Given the description of an element on the screen output the (x, y) to click on. 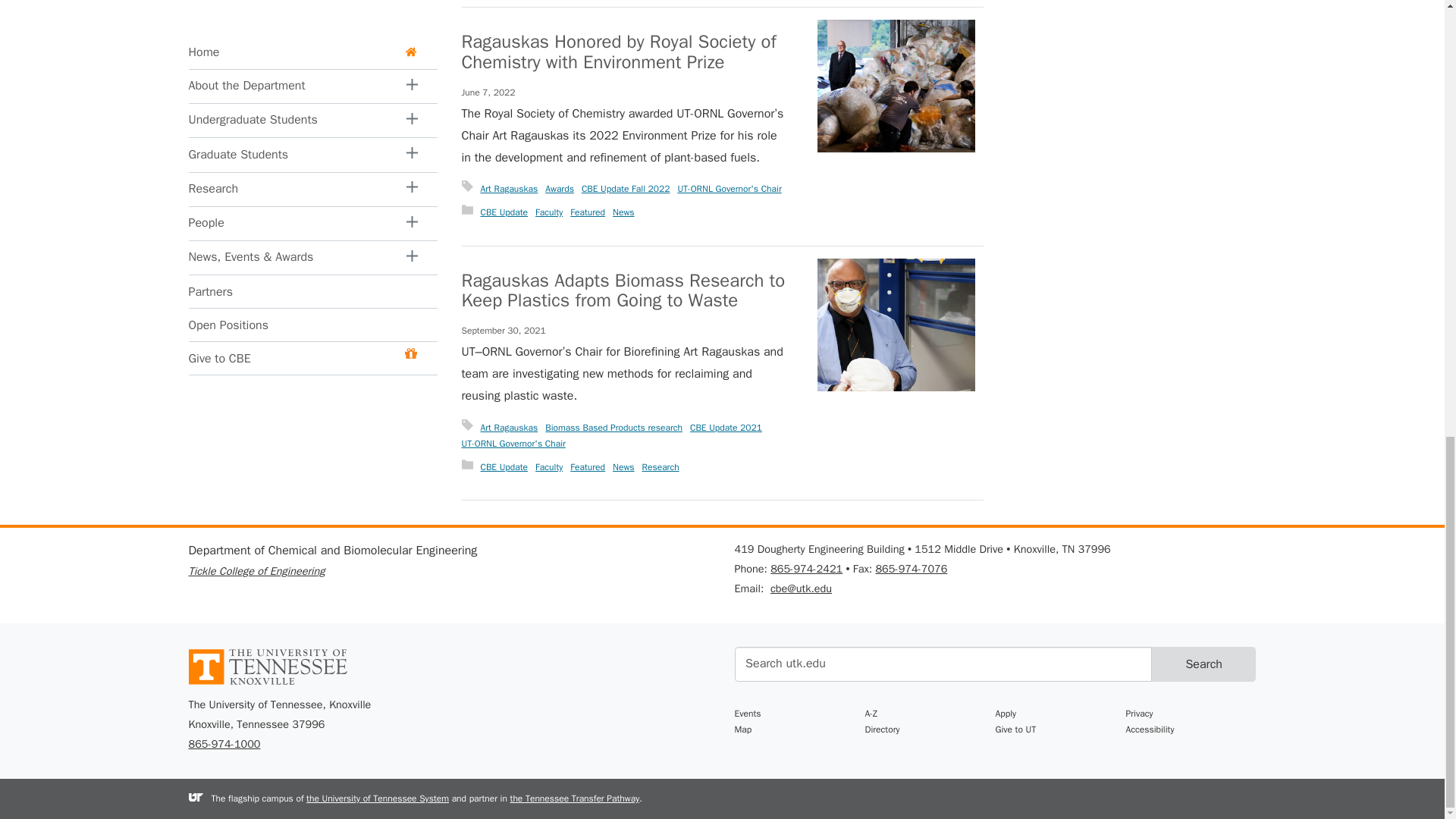
Search (1203, 664)
Submit (1203, 664)
search (942, 663)
Search utk.edu (942, 663)
